Given the description of an element on the screen output the (x, y) to click on. 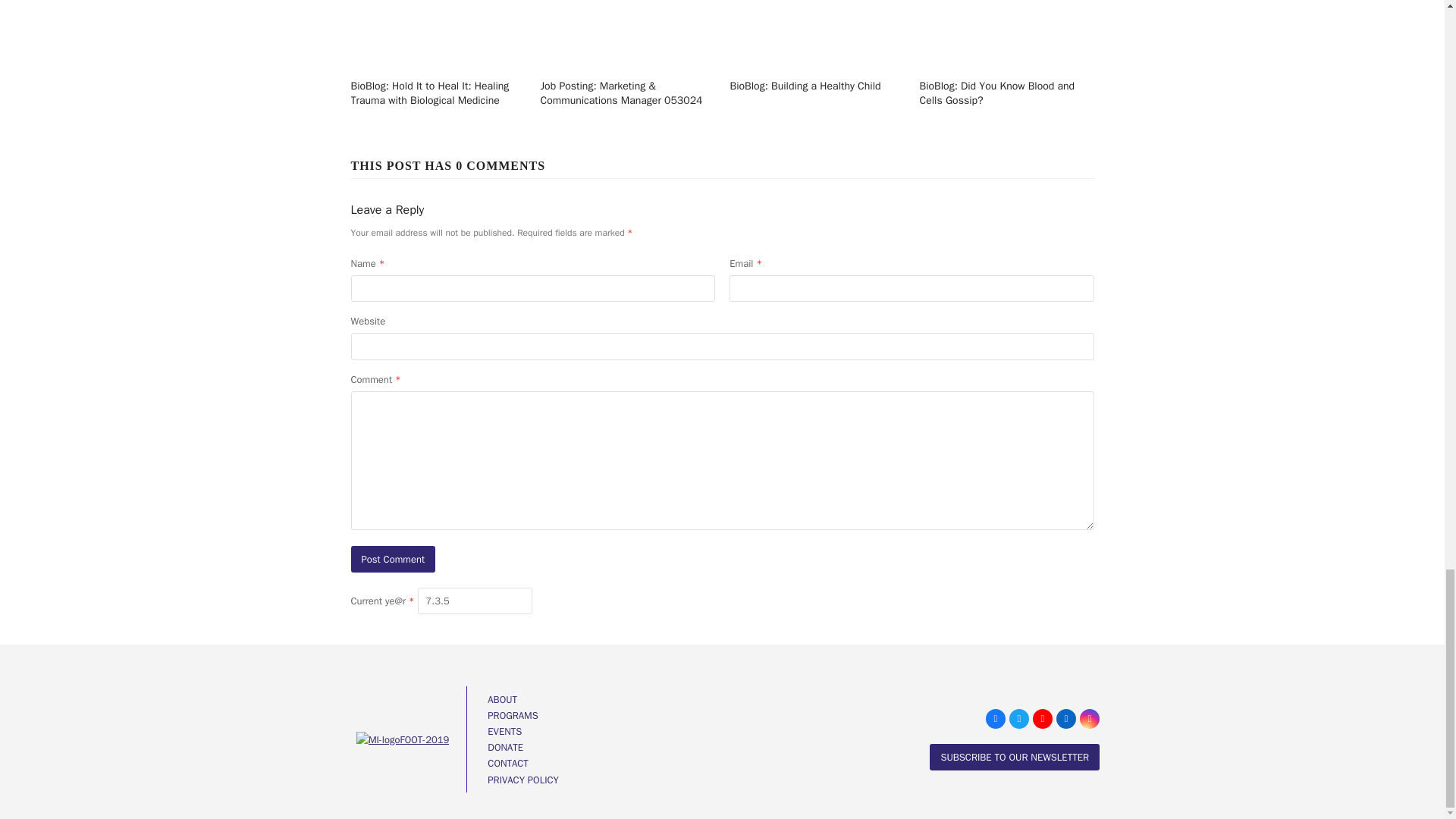
Instagram (1089, 718)
7.3.5 (474, 601)
BioBlog: Building a Healthy Child (804, 12)
Twitter (1019, 718)
Youtube (1042, 718)
MI-logoFOOT-2019 (402, 739)
LinkedIn (1066, 718)
Facebook (995, 718)
Post Comment (392, 559)
BioBlog: Did You Know Blood and Cells Gossip? (994, 12)
